Given the description of an element on the screen output the (x, y) to click on. 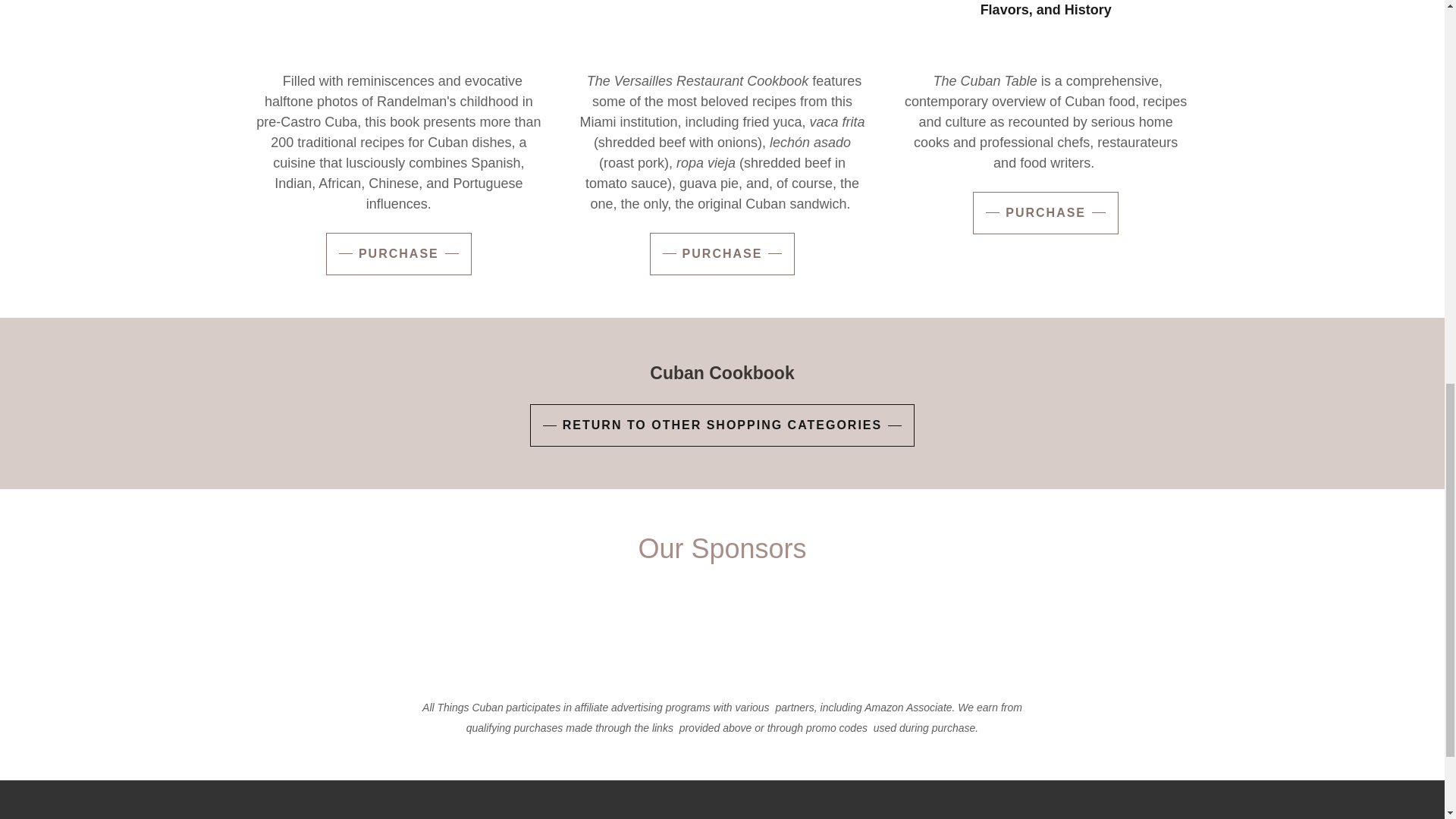
PURCHASE (1045, 212)
RETURN TO OTHER SHOPPING CATEGORIES (721, 425)
PURCHASE (721, 253)
PURCHASE (398, 253)
